Given the description of an element on the screen output the (x, y) to click on. 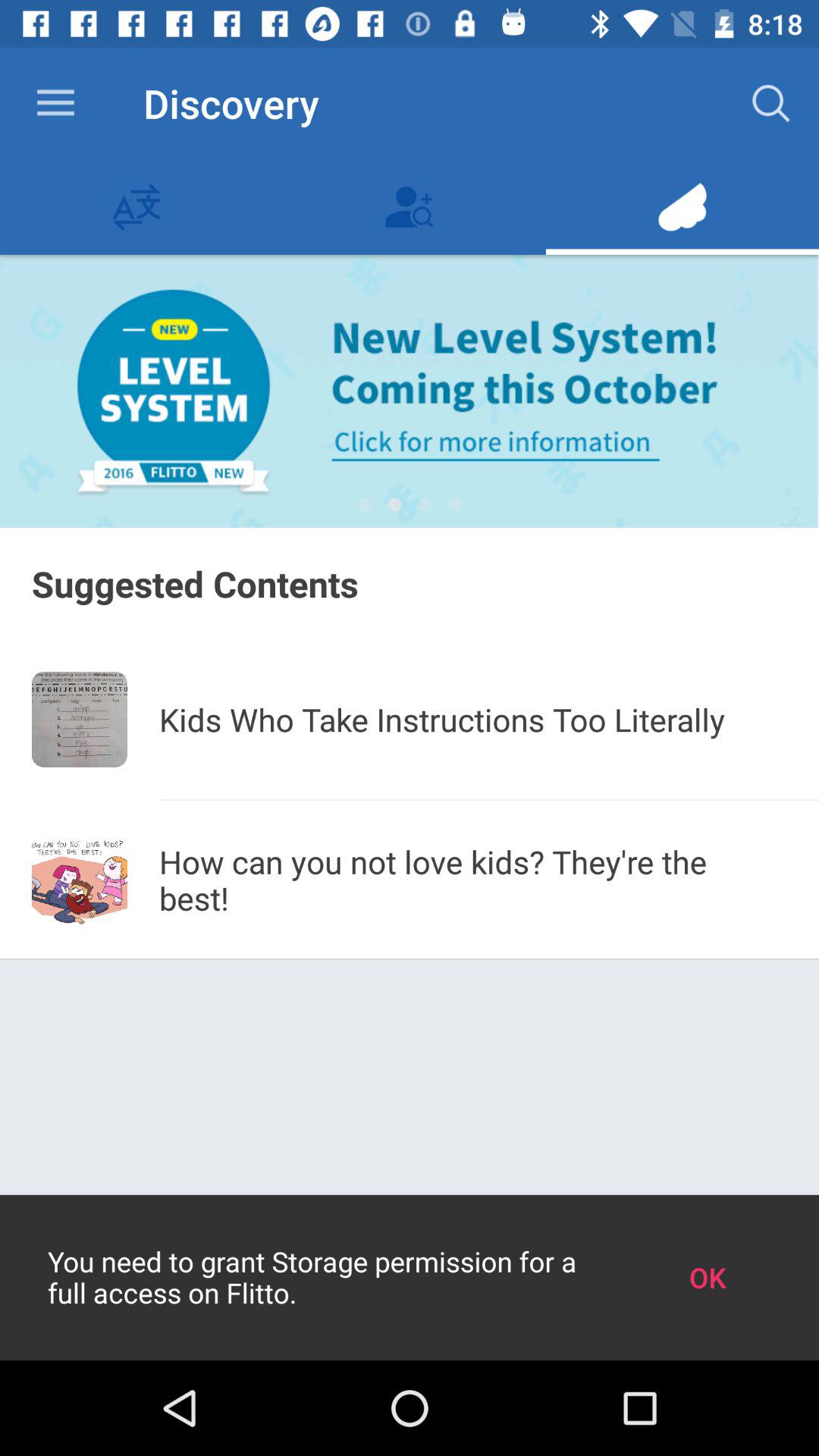
select the kids who take icon (473, 719)
